Given the description of an element on the screen output the (x, y) to click on. 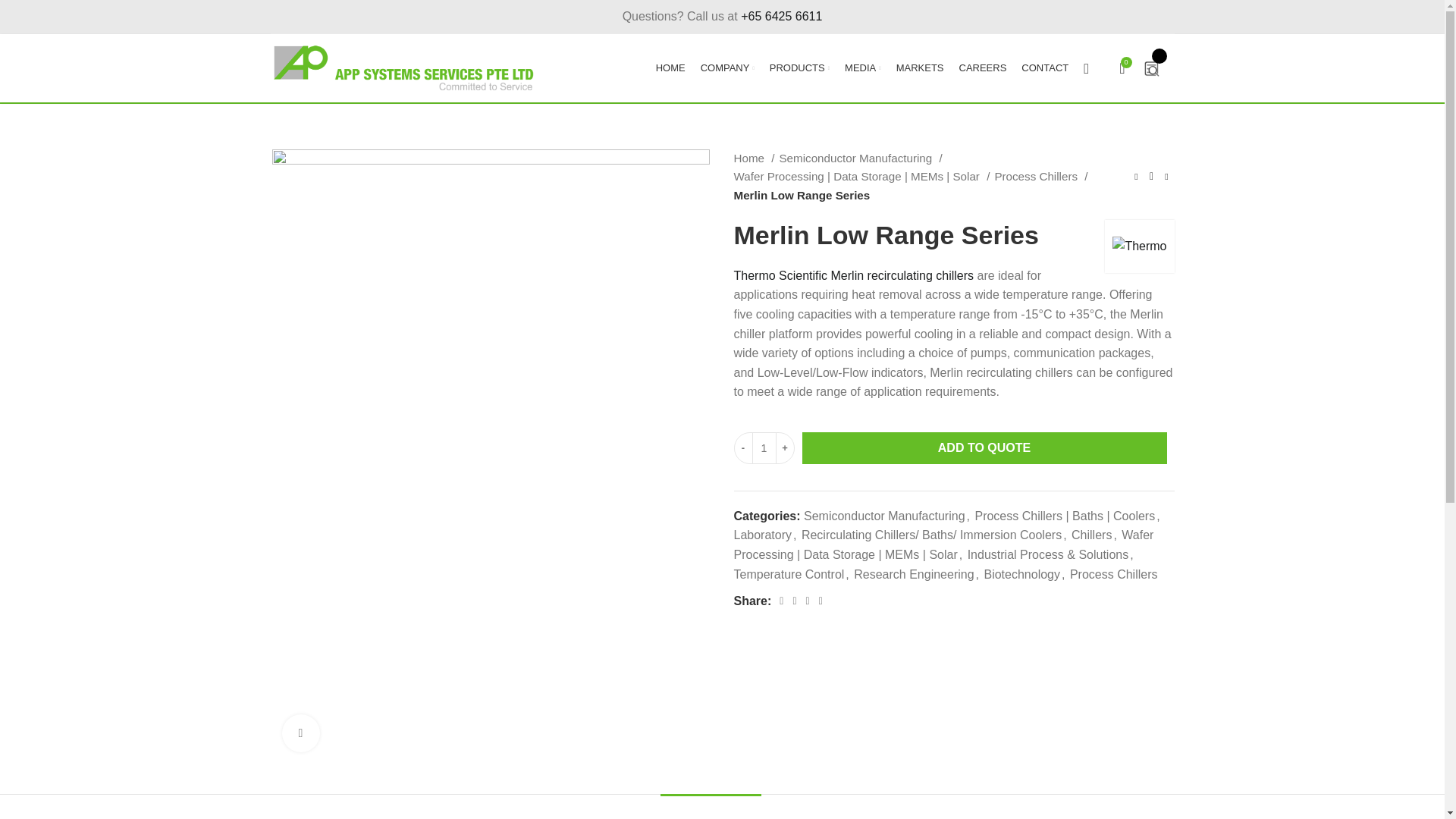
PRODUCTS (799, 68)
HOME (670, 68)
Process Chillers (1040, 176)
CAREERS (981, 68)
CONTACT (1044, 68)
MEDIA (862, 68)
MARKETS (920, 68)
COMPANY (727, 68)
Semiconductor Manufacturing (860, 158)
Thermo (1139, 246)
